Given the description of an element on the screen output the (x, y) to click on. 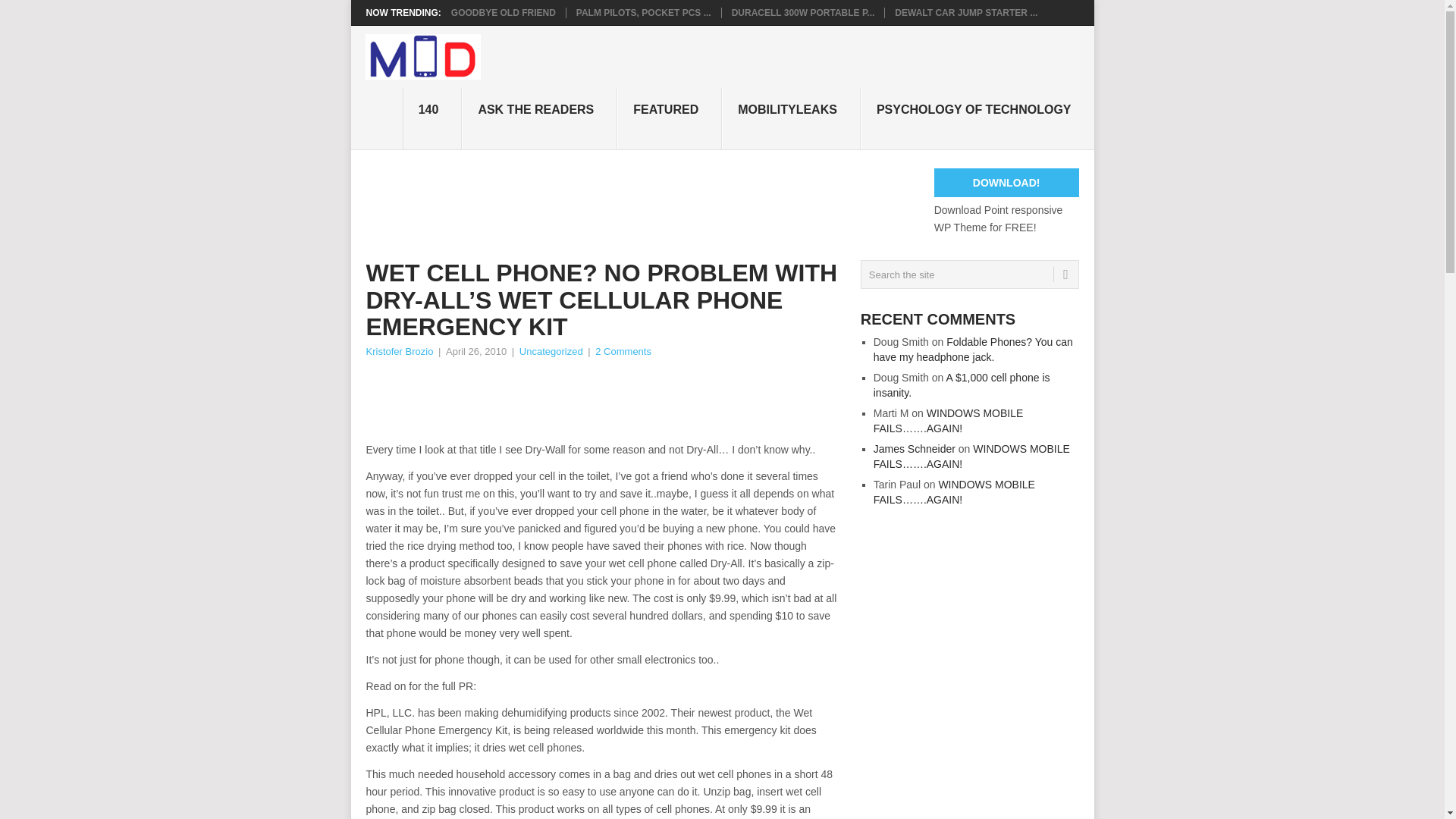
MOBILITYLEAKS (791, 118)
Uncategorized (551, 351)
Advertisement (641, 401)
2 Comments (622, 351)
GOODBYE OLD FRIEND (503, 12)
Posts by Kristofer Brozio (398, 351)
FEATURED (669, 118)
140 (433, 118)
ASK THE READERS (539, 118)
Goodbye Old Friend (503, 12)
